Given the description of an element on the screen output the (x, y) to click on. 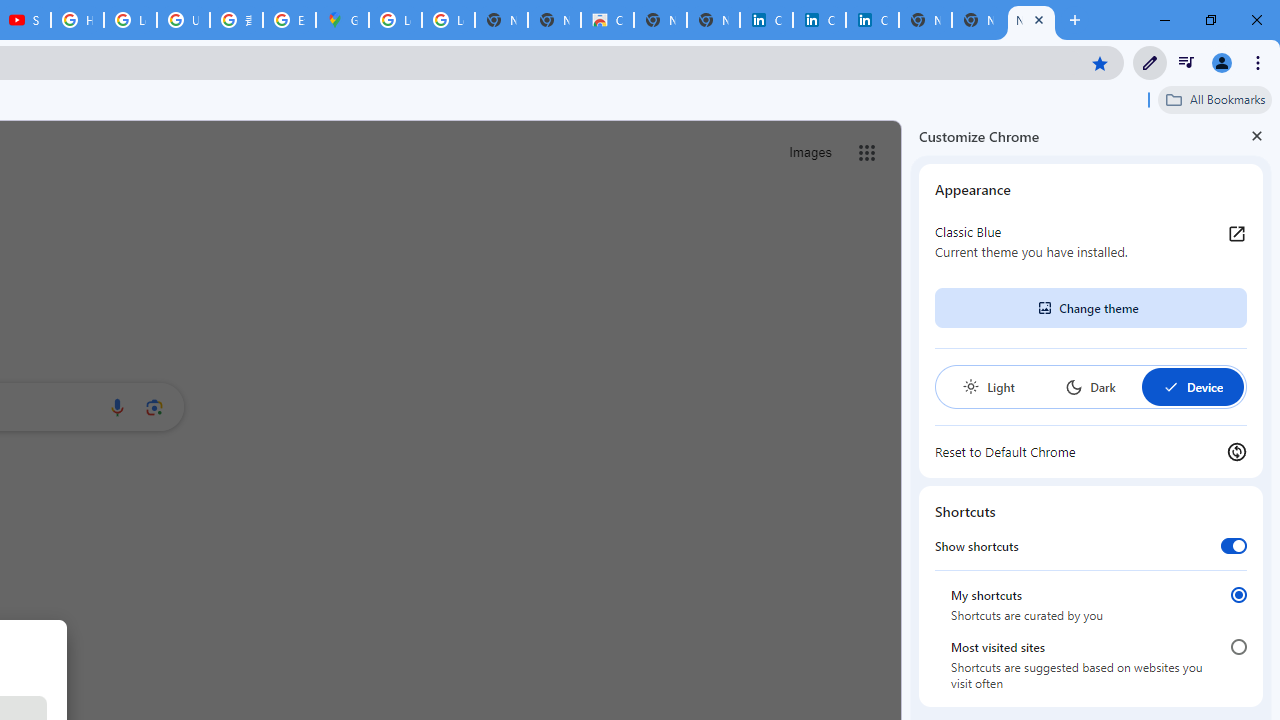
Cookie Policy | LinkedIn (766, 20)
